Given the description of an element on the screen output the (x, y) to click on. 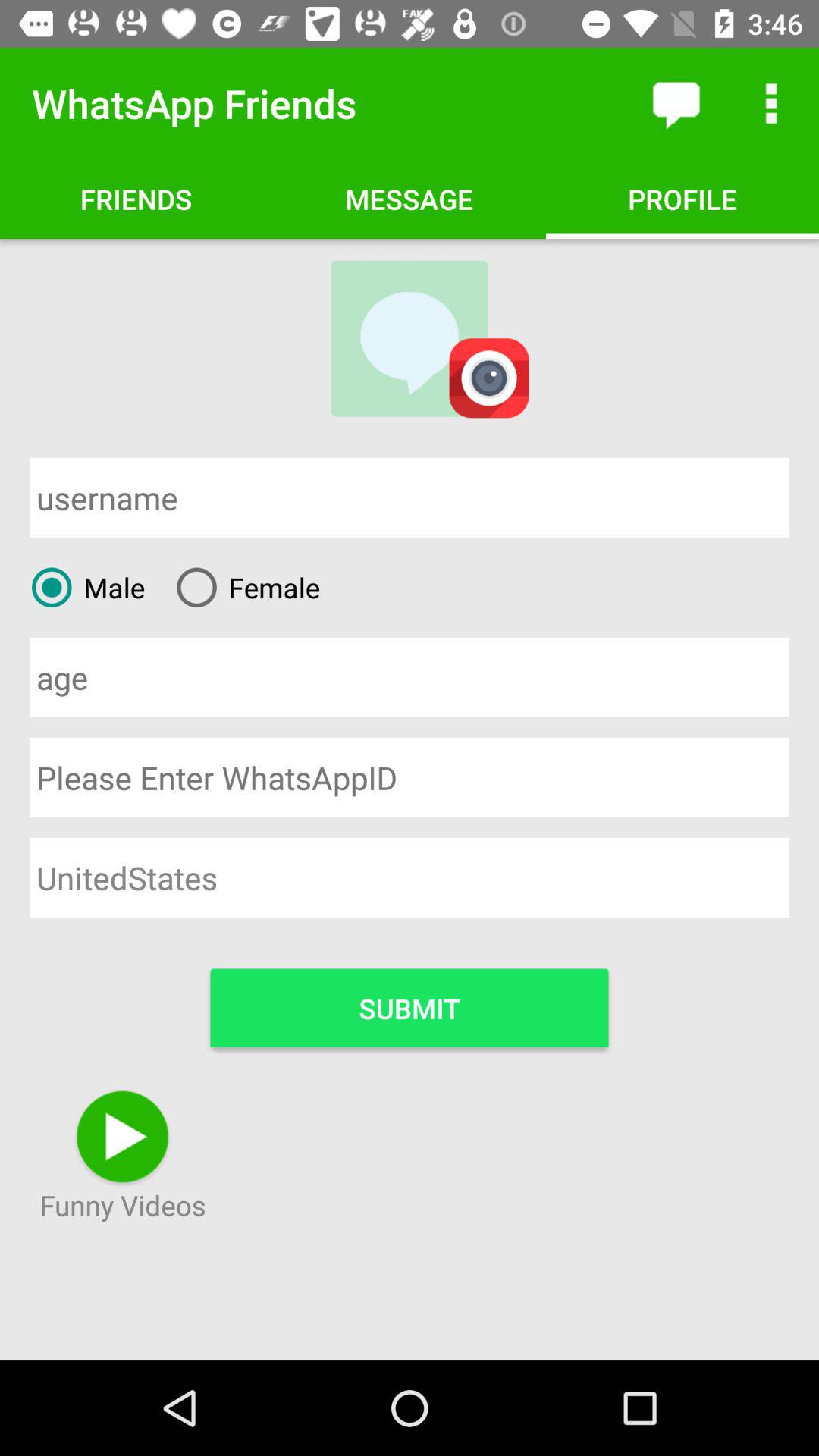
turn off the item above the profile icon (771, 103)
